Given the description of an element on the screen output the (x, y) to click on. 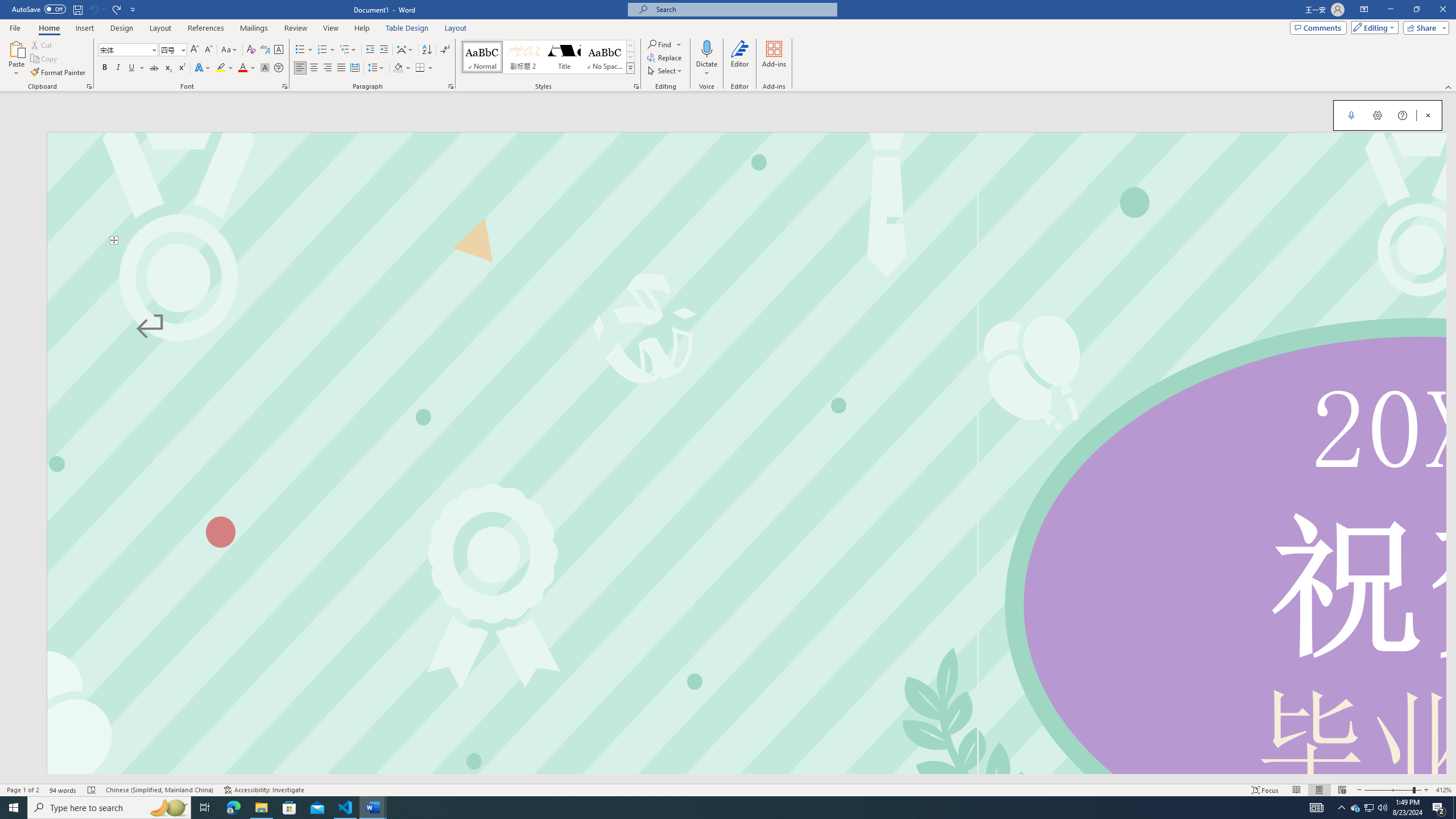
Numbering (322, 49)
Font (124, 49)
Zoom (1392, 790)
Underline (136, 67)
Grow Font (193, 49)
Cut (42, 44)
More Options (706, 68)
Clear Formatting (250, 49)
Language Chinese (Simplified, Mainland China) (159, 790)
Phonetic Guide... (264, 49)
Copy (45, 58)
Design (122, 28)
View (330, 28)
